Given the description of an element on the screen output the (x, y) to click on. 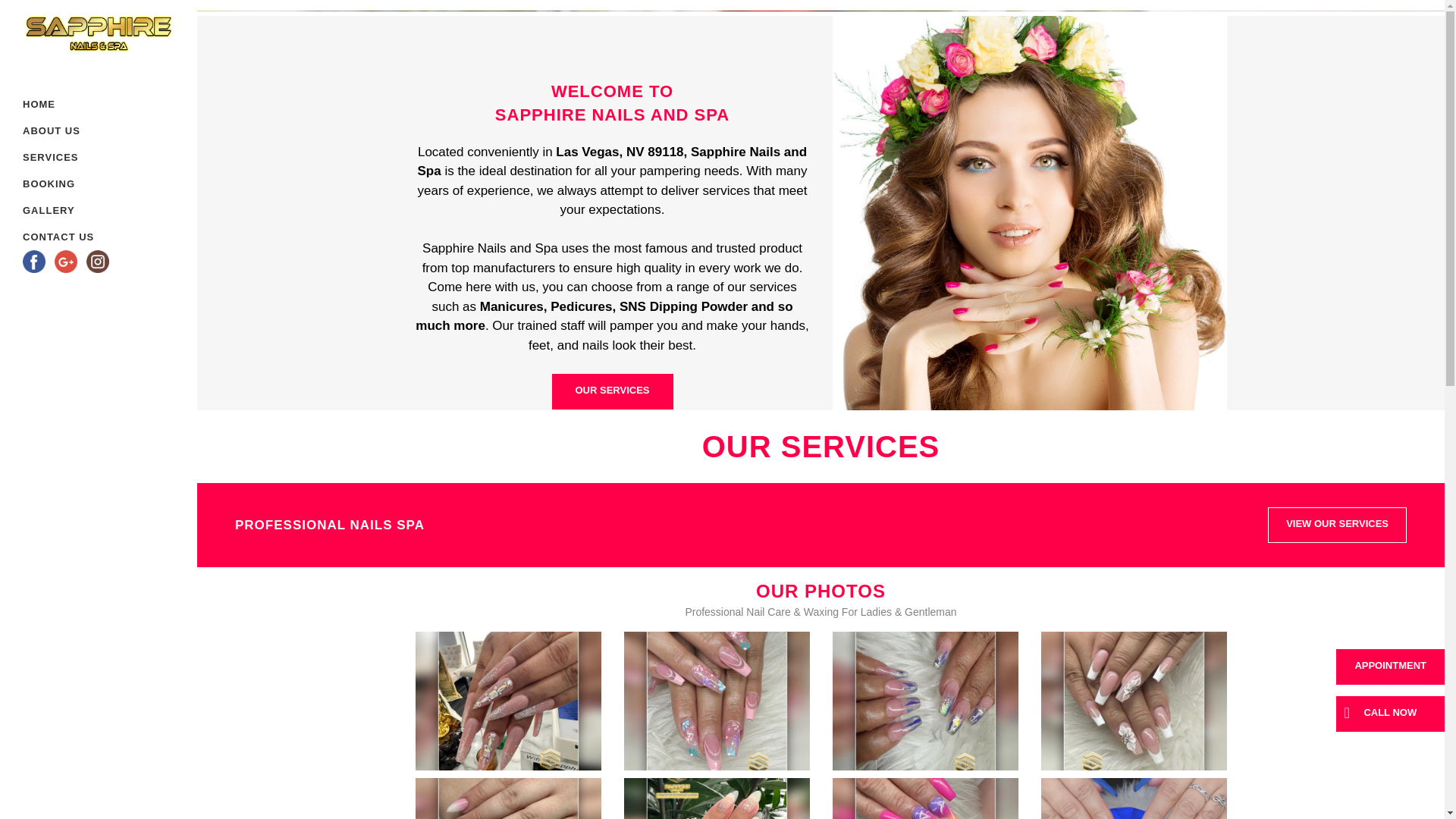
Sapphire Nails and Spa in Las Vegas, NV 89118 (1133, 798)
VIEW OUR SERVICES (1337, 524)
CONTACT US (58, 236)
Sapphire Nails and Spa in Las Vegas, NV 89118 (924, 701)
OUR SERVICES (611, 391)
Sapphire Nails and Spa in Las Vegas, NV 89118 (716, 798)
SERVICES (58, 157)
Manicures, Pedicures, SNS Dipping Powder and so much more (603, 316)
Sapphire Nails and Spa in Las Vegas, NV 89118 (507, 798)
Sapphire Nails and Spa in Las Vegas, NV 89118 (1133, 701)
GALLERY (58, 210)
HOME (58, 103)
BOOKING (58, 183)
Sapphire Nails and Spa Contact (611, 161)
Sapphire Nails and Spa in Las Vegas, NV 89118 (924, 798)
